Given the description of an element on the screen output the (x, y) to click on. 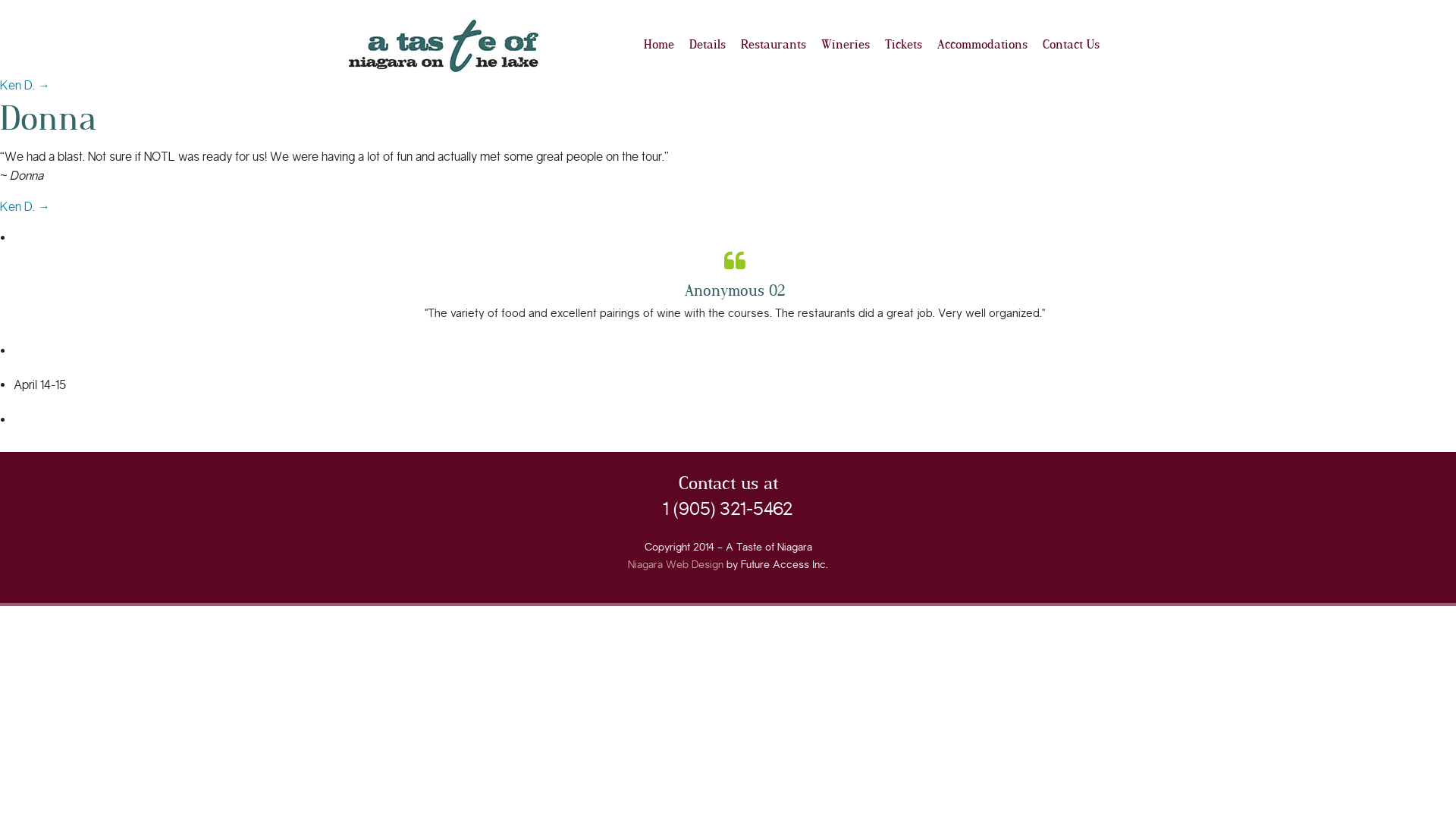
Home Element type: text (658, 43)
Niagara Web Design Element type: text (675, 564)
Tickets Element type: text (903, 43)
Restaurants Element type: text (773, 43)
Contact Us Element type: text (1071, 43)
Accommodations Element type: text (982, 43)
Details Element type: text (707, 43)
A Taste of Niagara-on-the-Lake Element type: text (443, 45)
Wineries Element type: text (845, 43)
